Given the description of an element on the screen output the (x, y) to click on. 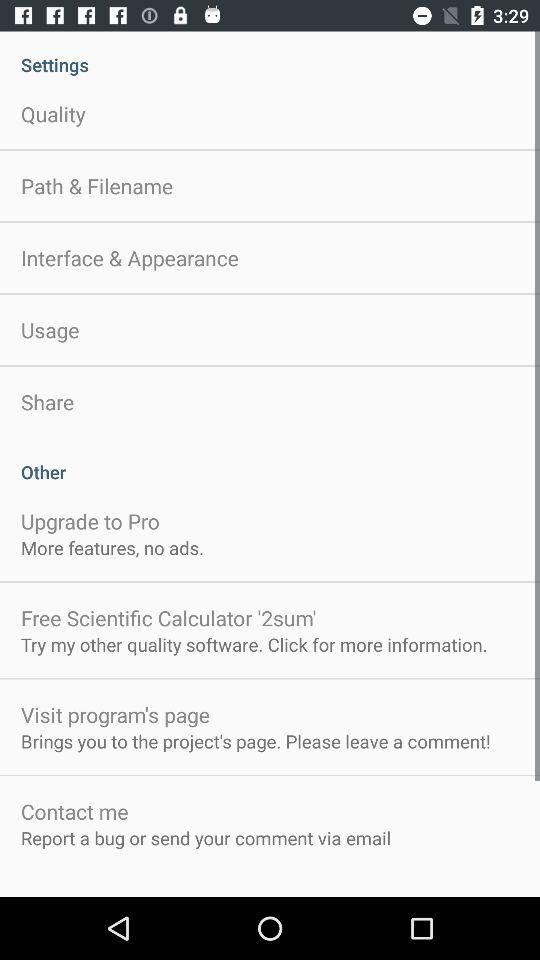
scroll to upgrade to pro icon (90, 520)
